Given the description of an element on the screen output the (x, y) to click on. 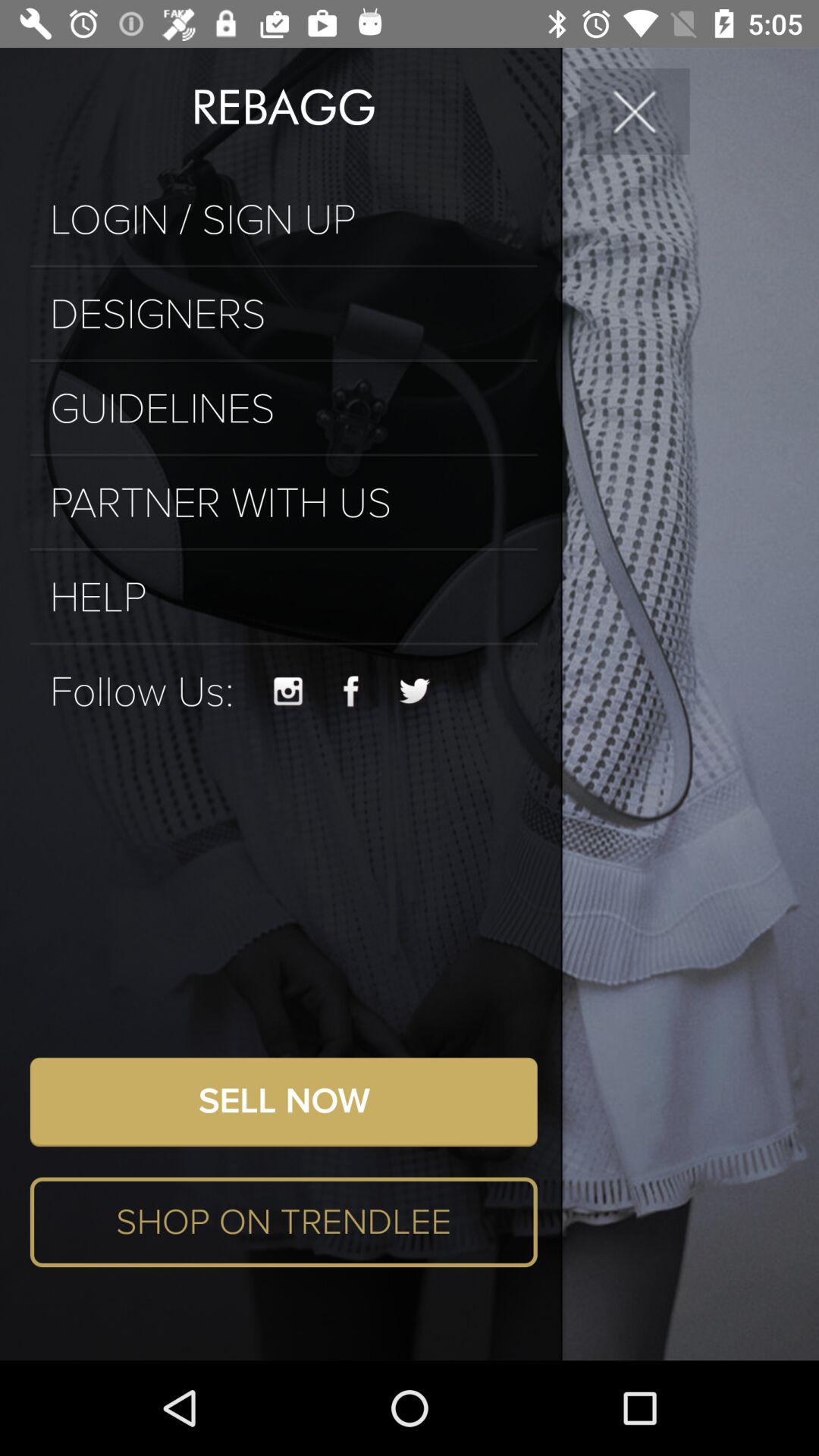
open login / sign up item (283, 220)
